Given the description of an element on the screen output the (x, y) to click on. 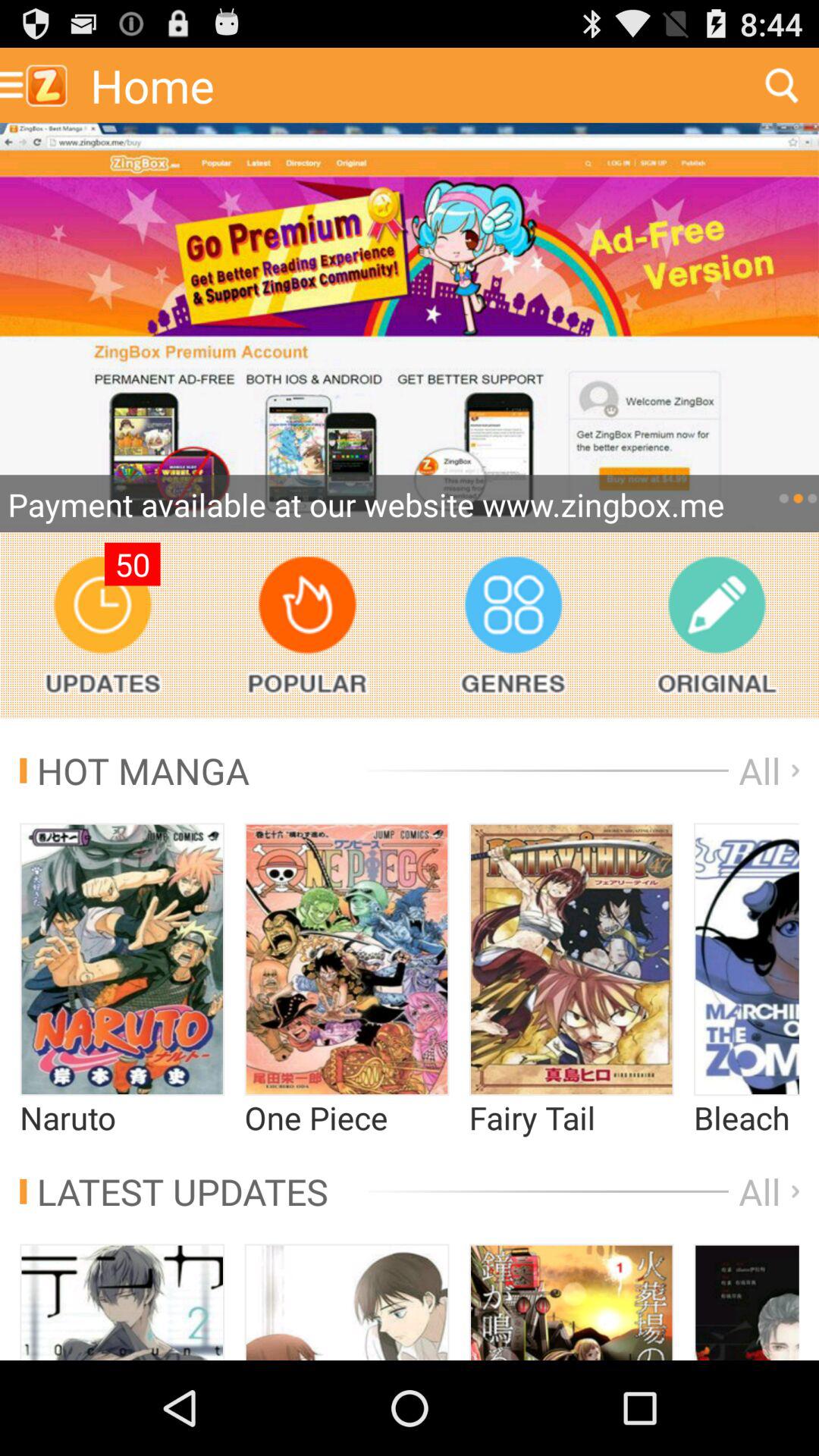
purchase naruto (121, 958)
